Given the description of an element on the screen output the (x, y) to click on. 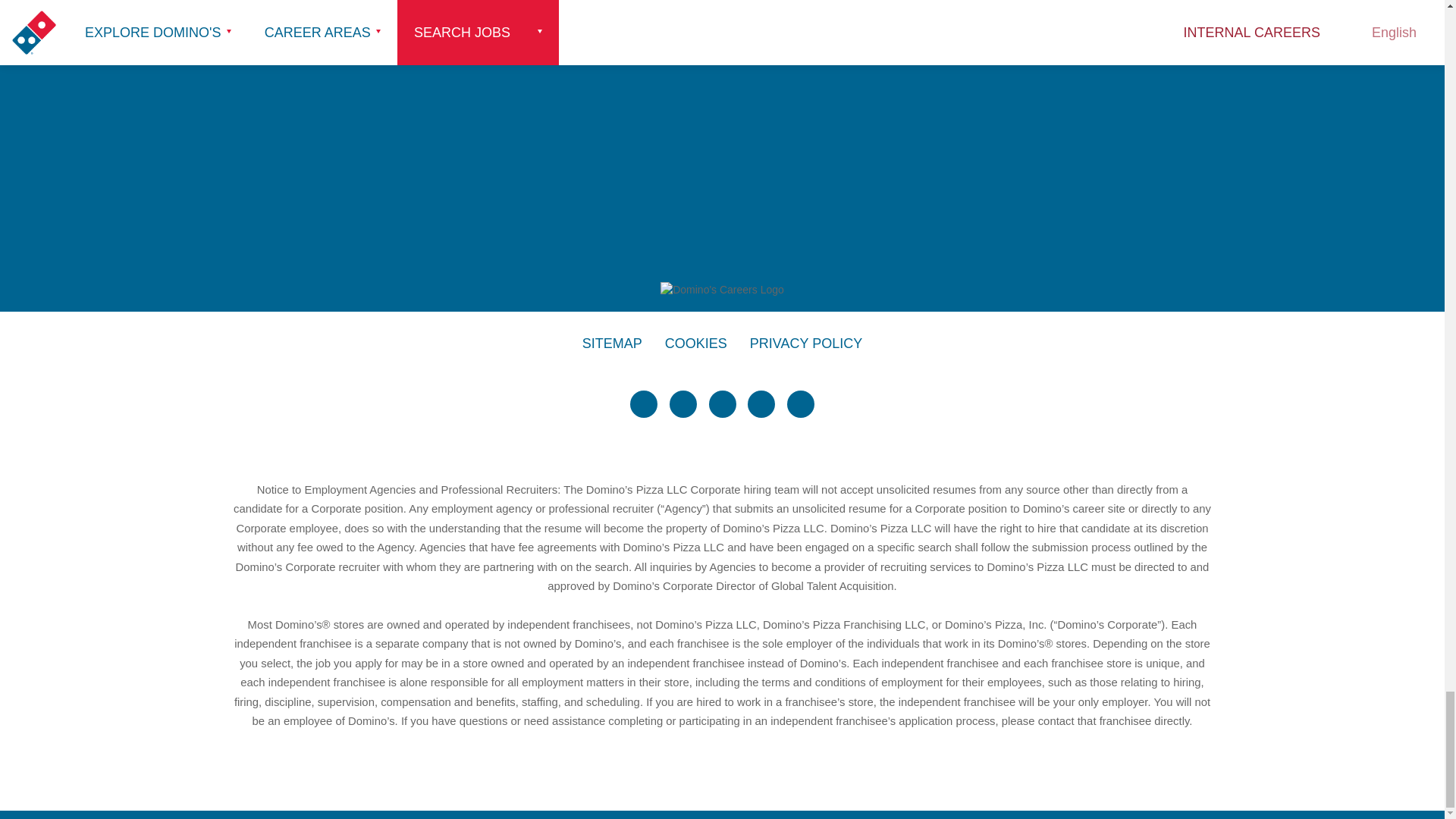
Glassdoor (800, 403)
PRIVACY POLICY (805, 343)
YouTube (761, 403)
COOKIES (695, 343)
SITEMAP (612, 343)
Facebook (683, 403)
Twitter (644, 403)
LinkedIn (721, 403)
